Given the description of an element on the screen output the (x, y) to click on. 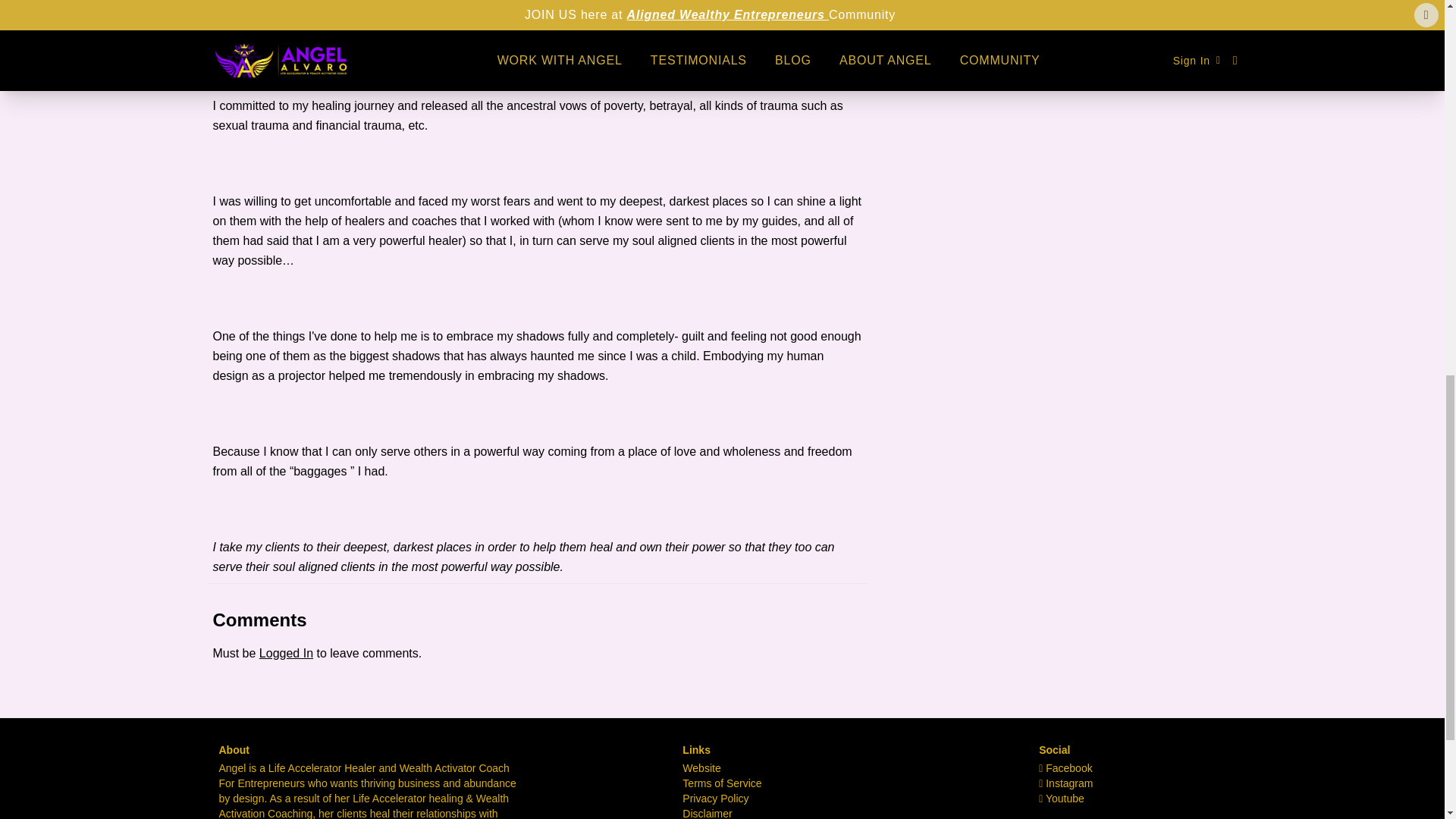
Youtube (1061, 798)
Privacy Policy (715, 798)
Website (701, 767)
Instagram (1066, 783)
Facebook (1066, 767)
Disclaimer (707, 813)
Logged In (286, 653)
Terms of Service (721, 783)
